Given the description of an element on the screen output the (x, y) to click on. 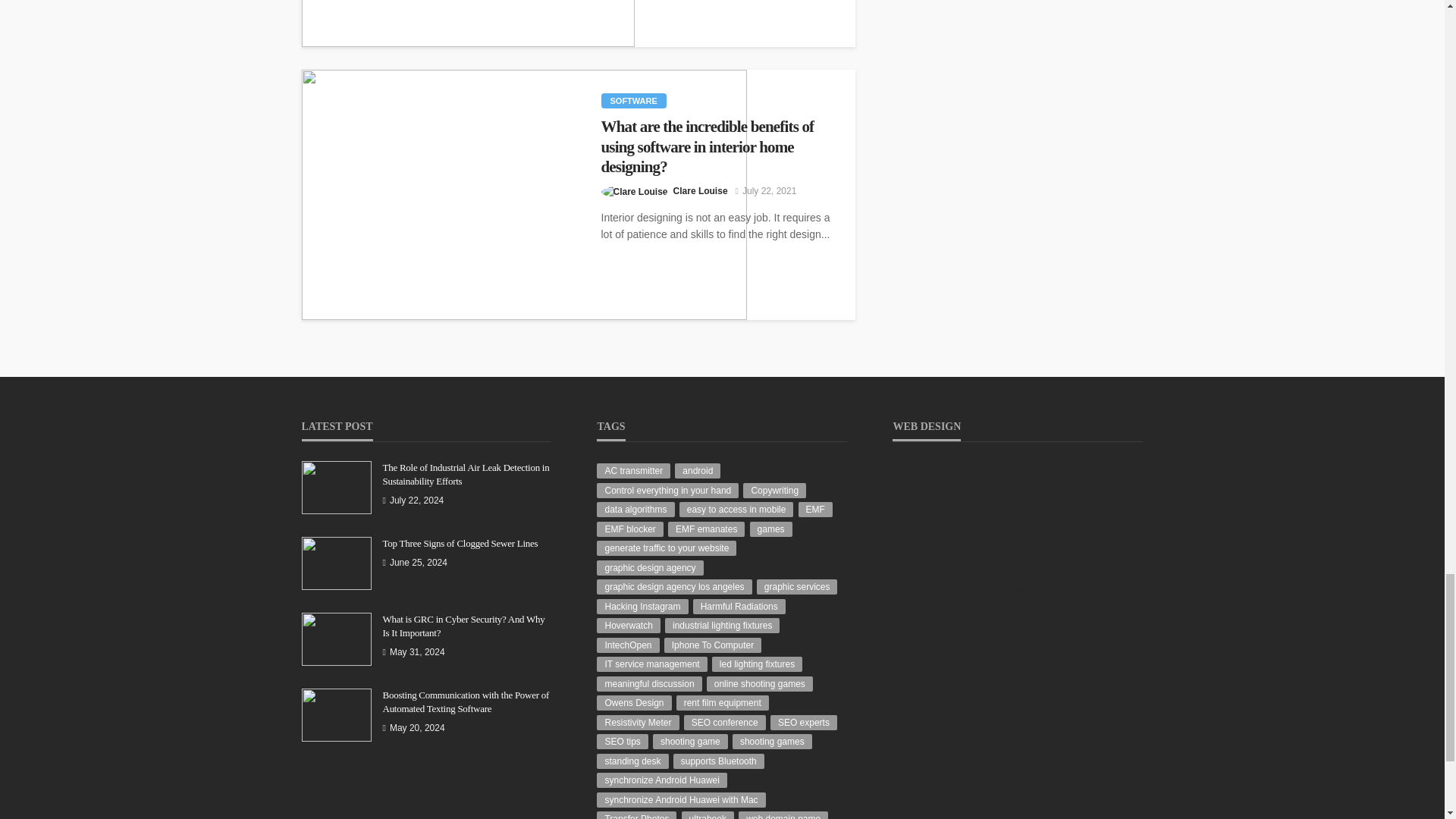
Software (632, 100)
